Given the description of an element on the screen output the (x, y) to click on. 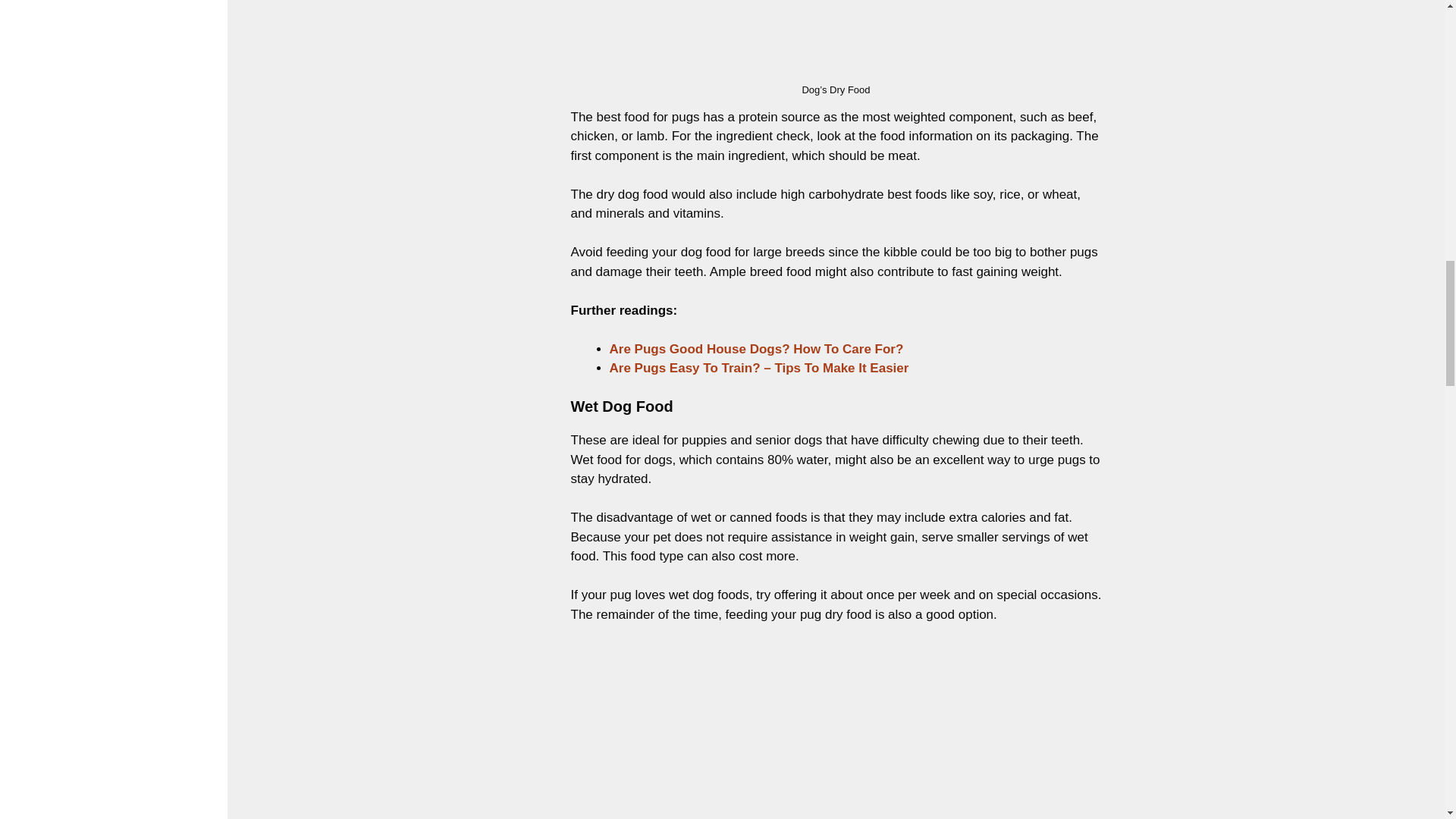
What Food Do Pugs Eat? Useful Feeding Guide For Your Pet 2 (835, 38)
What Food Do Pugs Eat? Useful Feeding Guide For Your Pet 3 (835, 731)
Are Pugs Good House Dogs? How To Care For? (757, 349)
